Given the description of an element on the screen output the (x, y) to click on. 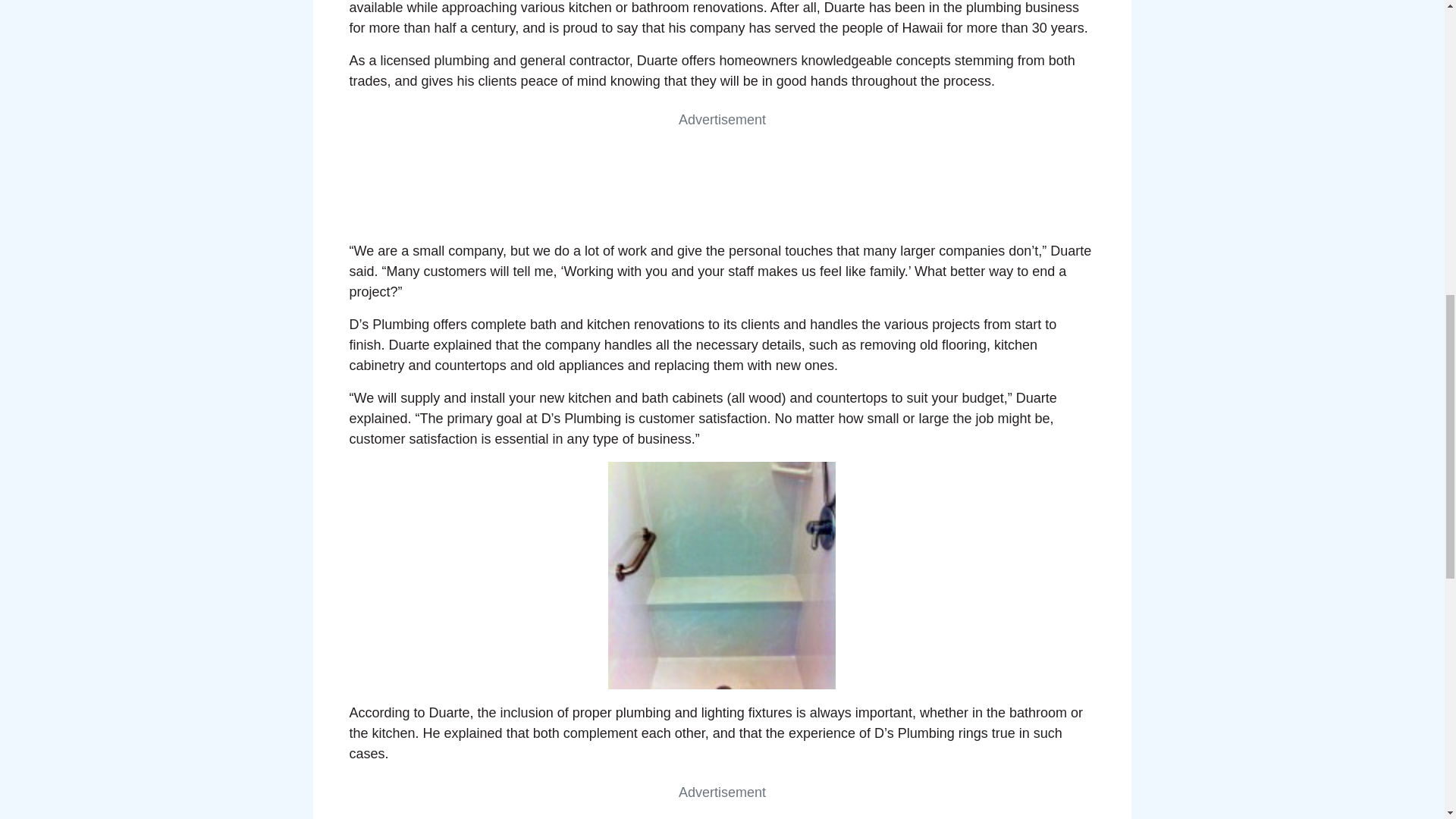
3rd party ad content (721, 164)
